Given the description of an element on the screen output the (x, y) to click on. 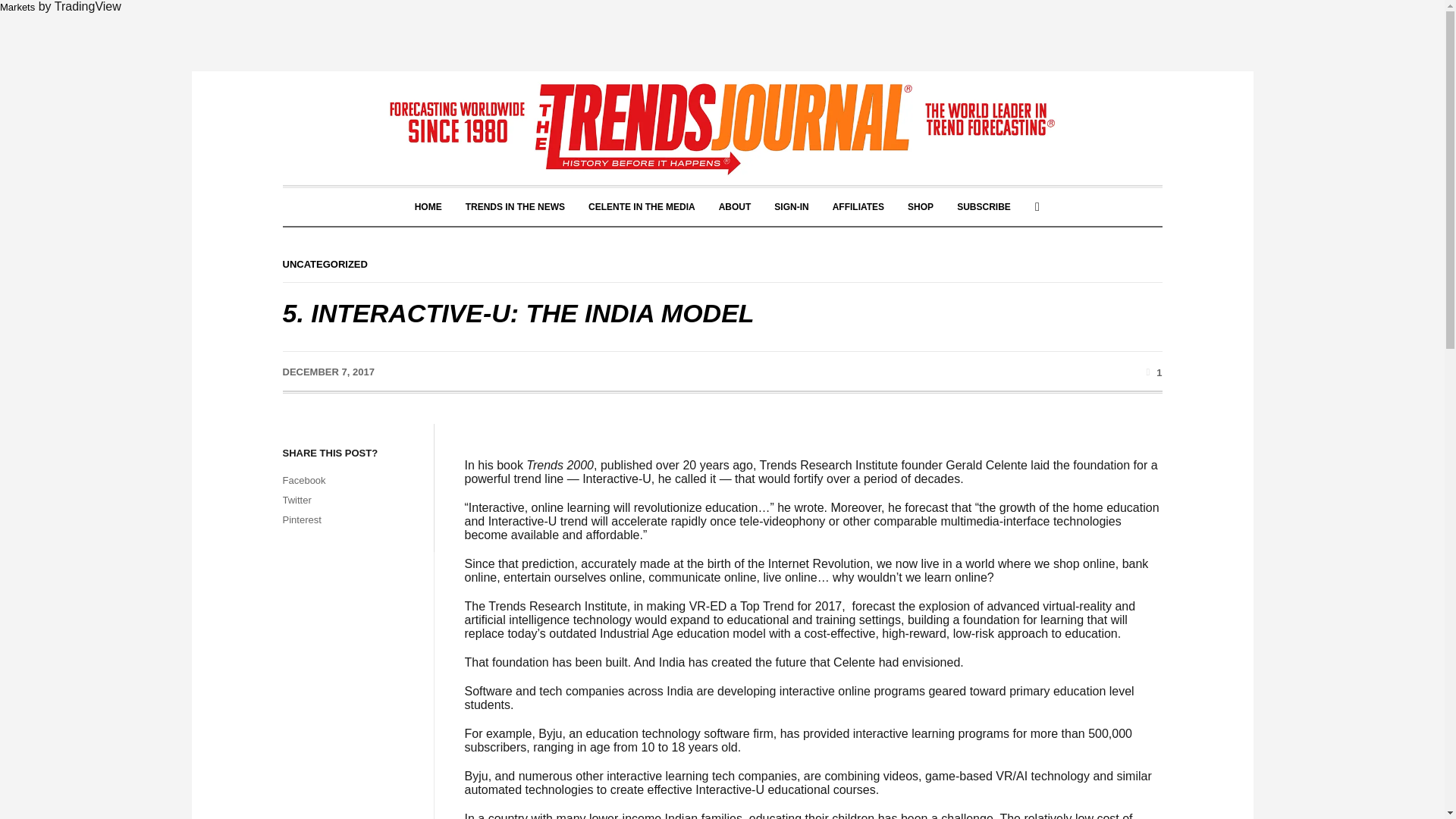
ABOUT (734, 207)
AFFILIATES (858, 207)
SUBSCRIBE (983, 207)
TRENDS IN THE NEWS (515, 207)
SIGN-IN (790, 207)
December 7, 2017 (328, 372)
CELENTE IN THE MEDIA (641, 207)
1 (1151, 371)
Pinterest (349, 520)
Markets (17, 7)
UNCATEGORIZED (324, 264)
Facebook (349, 480)
Twitter (349, 500)
HOME (427, 207)
SHOP (920, 207)
